Given the description of an element on the screen output the (x, y) to click on. 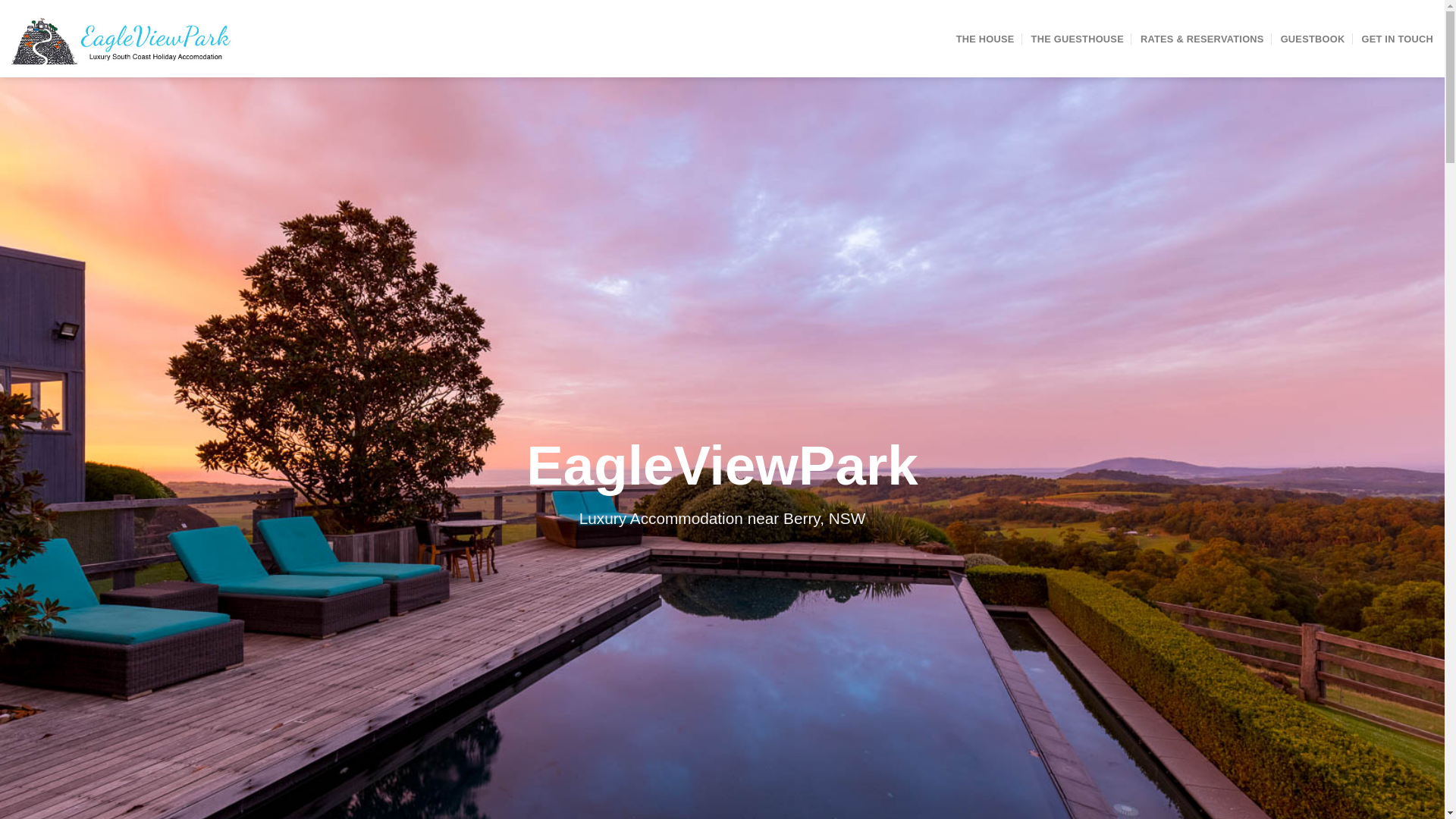
GUESTBOOK Element type: text (1312, 38)
EagleViewPark - Luxury South Coast Holiday Accommodation Element type: hover (128, 38)
RATES & RESERVATIONS Element type: text (1202, 38)
THE HOUSE Element type: text (985, 38)
GET IN TOUCH Element type: text (1397, 38)
THE GUESTHOUSE Element type: text (1077, 38)
